Given the description of an element on the screen output the (x, y) to click on. 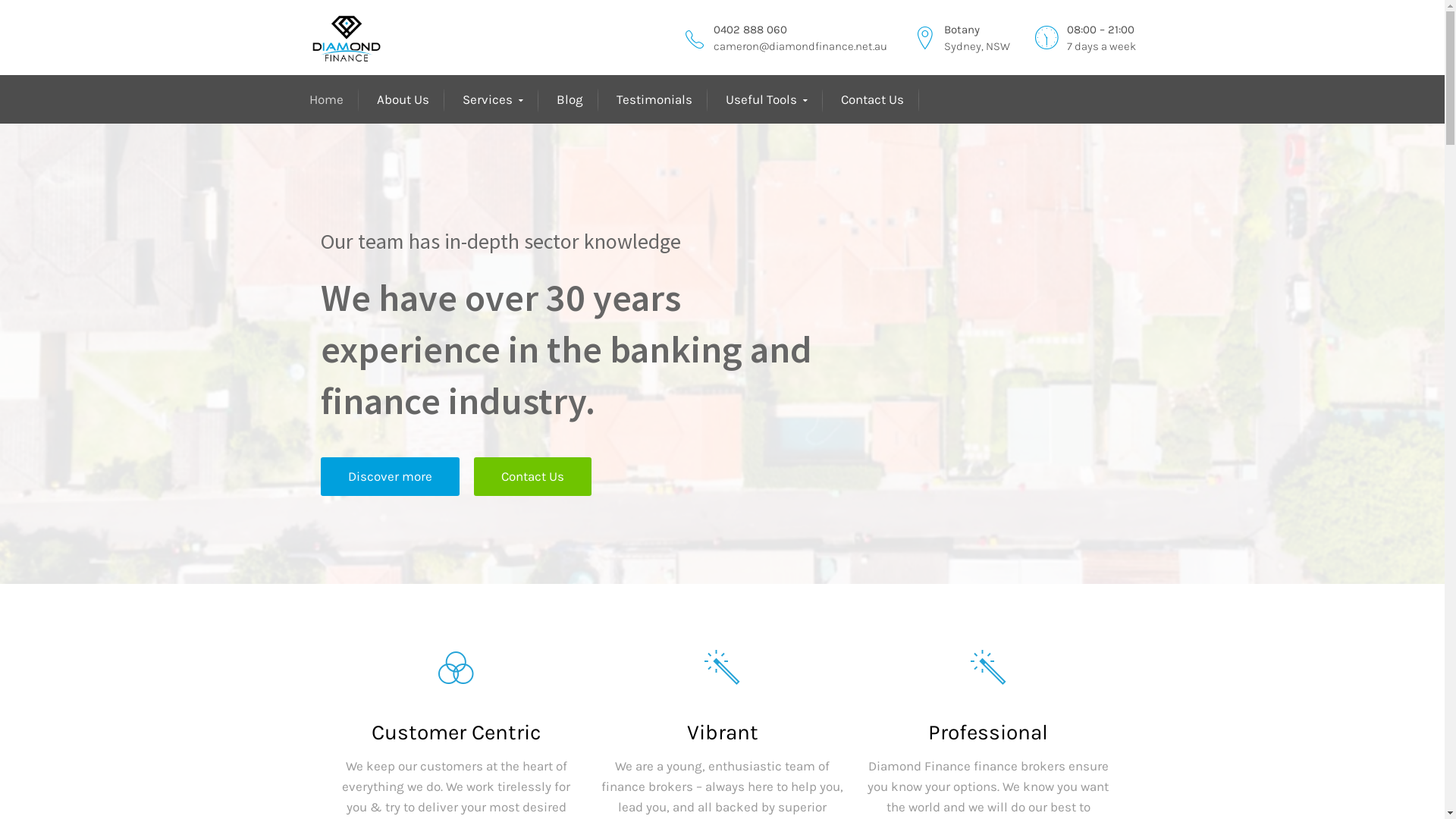
Useful Tools Element type: text (765, 100)
Contact Us Element type: text (531, 476)
Home Element type: text (326, 99)
About Us Element type: text (402, 99)
cameron@diamondfinance.net.au Element type: text (799, 46)
Blog Element type: text (569, 99)
Contact Us Element type: text (871, 99)
Services Element type: text (492, 100)
Testimonials Element type: text (653, 99)
Discover more Element type: text (389, 476)
